Given the description of an element on the screen output the (x, y) to click on. 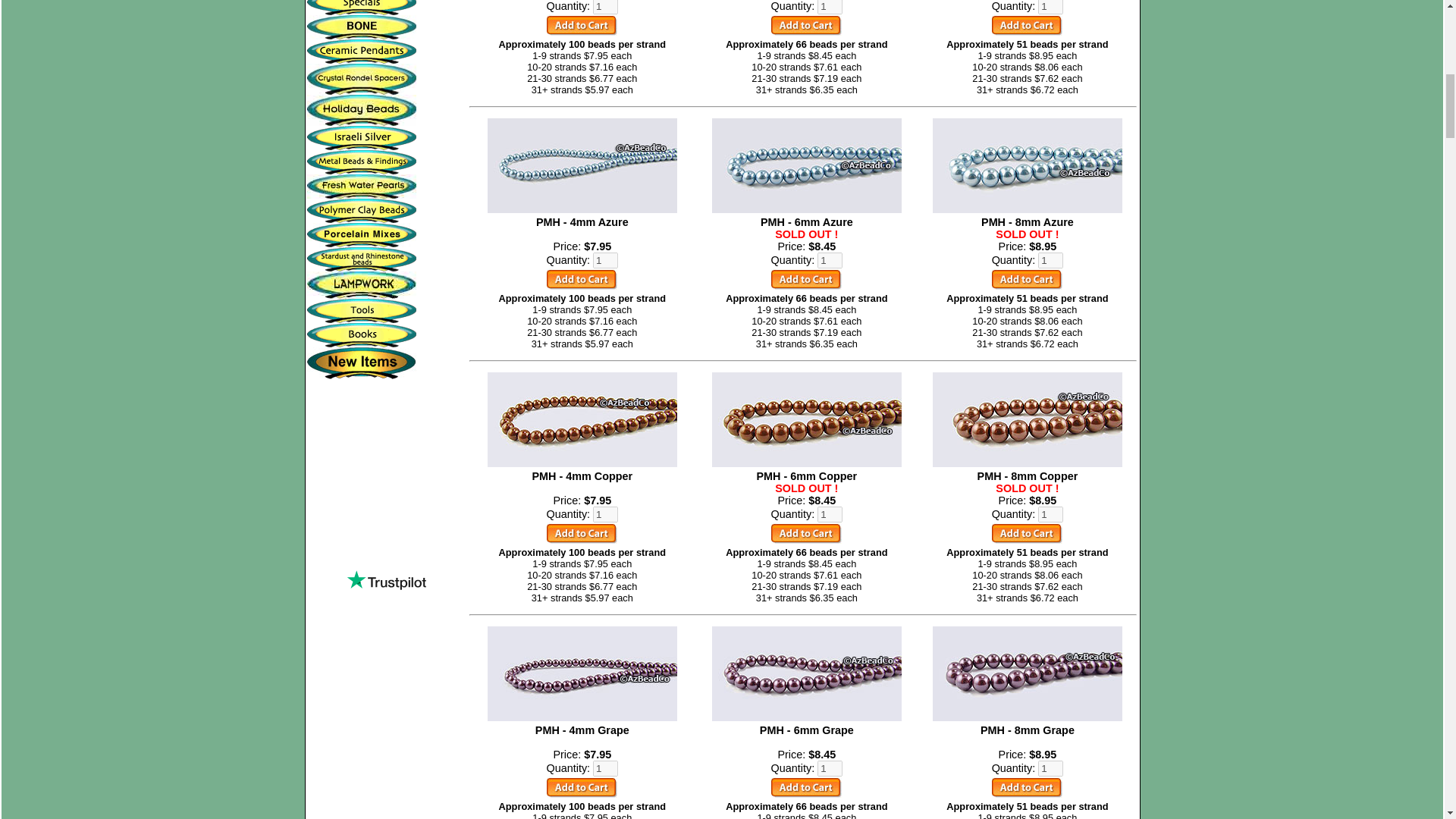
1 (829, 768)
1 (604, 514)
1 (1050, 260)
1 (829, 7)
1 (829, 260)
1 (829, 514)
1 (1050, 768)
1 (604, 260)
1 (1050, 7)
1 (604, 7)
1 (1050, 514)
1 (604, 768)
